Given the description of an element on the screen output the (x, y) to click on. 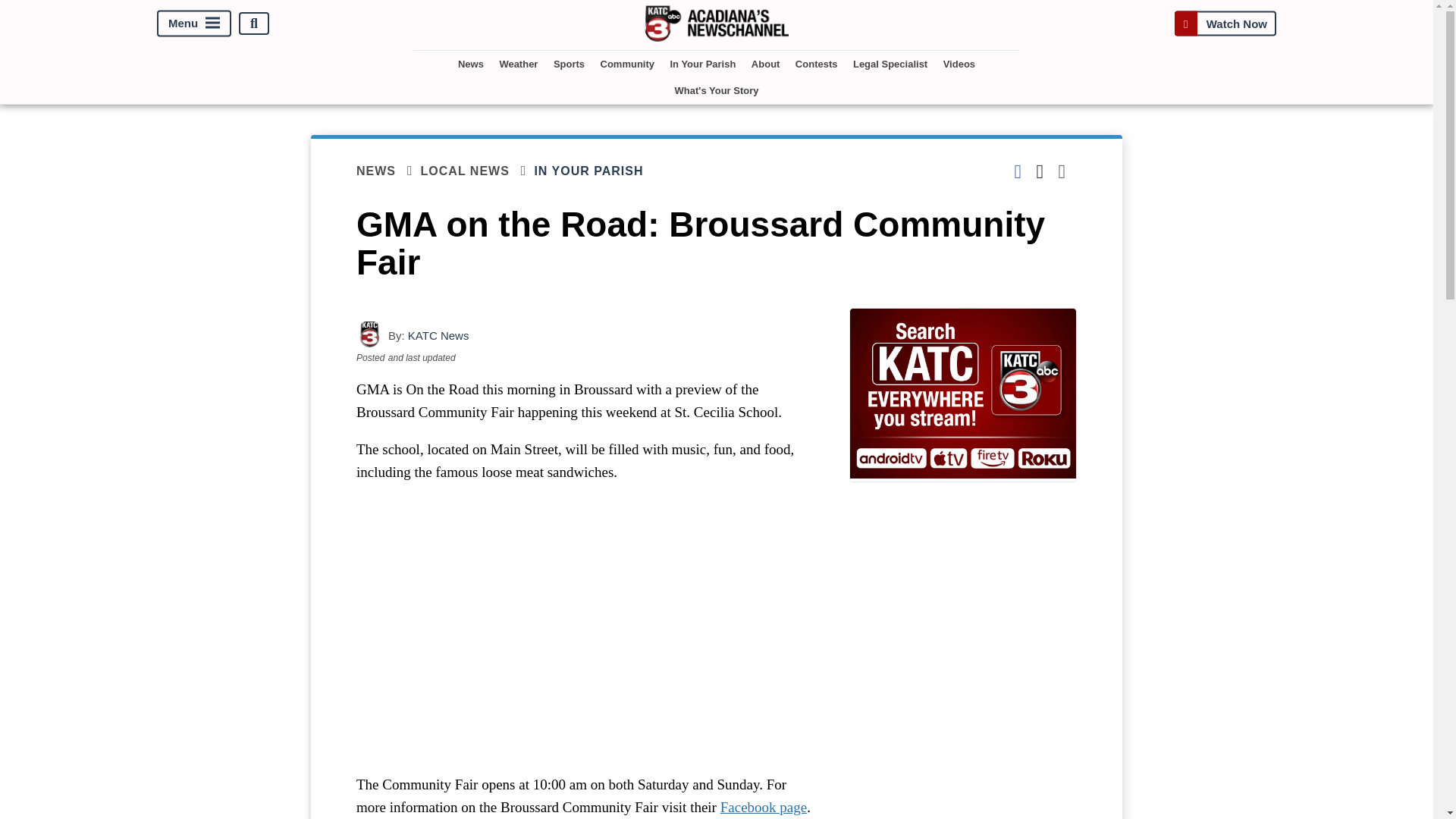
YouTube player (587, 627)
Watch Now (1224, 23)
Menu (194, 23)
